Given the description of an element on the screen output the (x, y) to click on. 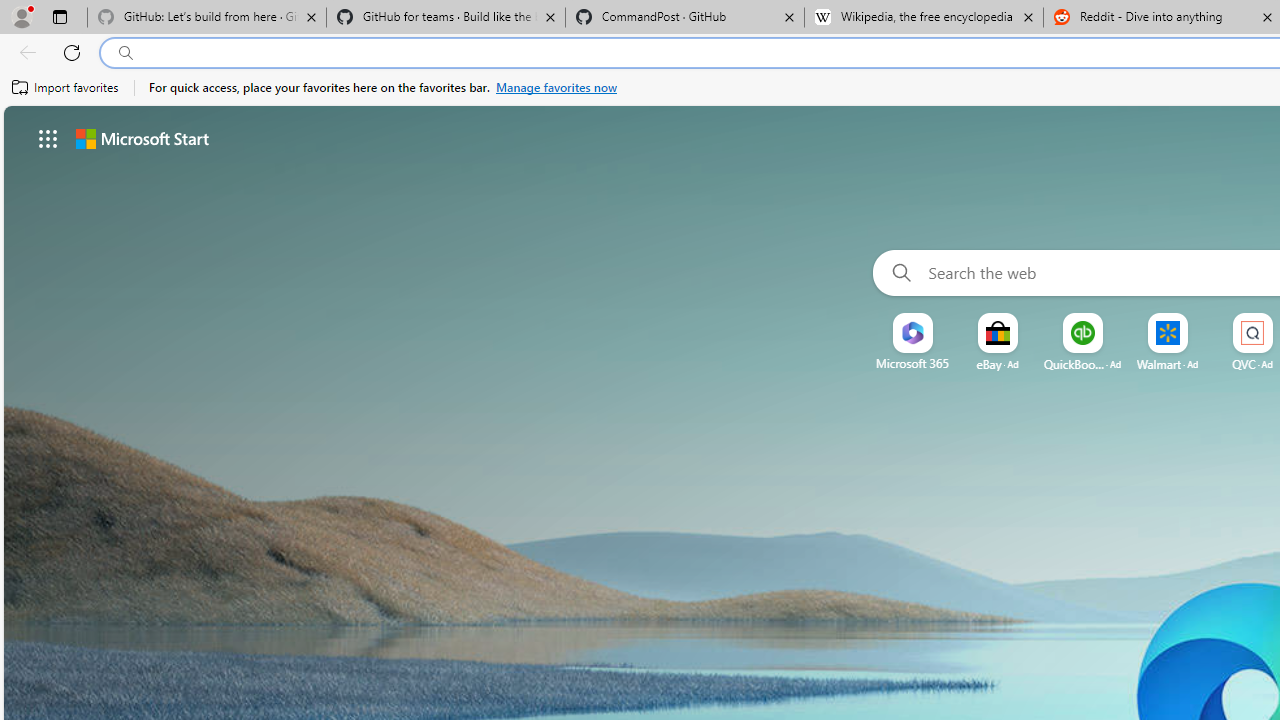
Search icon (125, 53)
Manage favorites now (556, 88)
Microsoft start (142, 138)
